Given the description of an element on the screen output the (x, y) to click on. 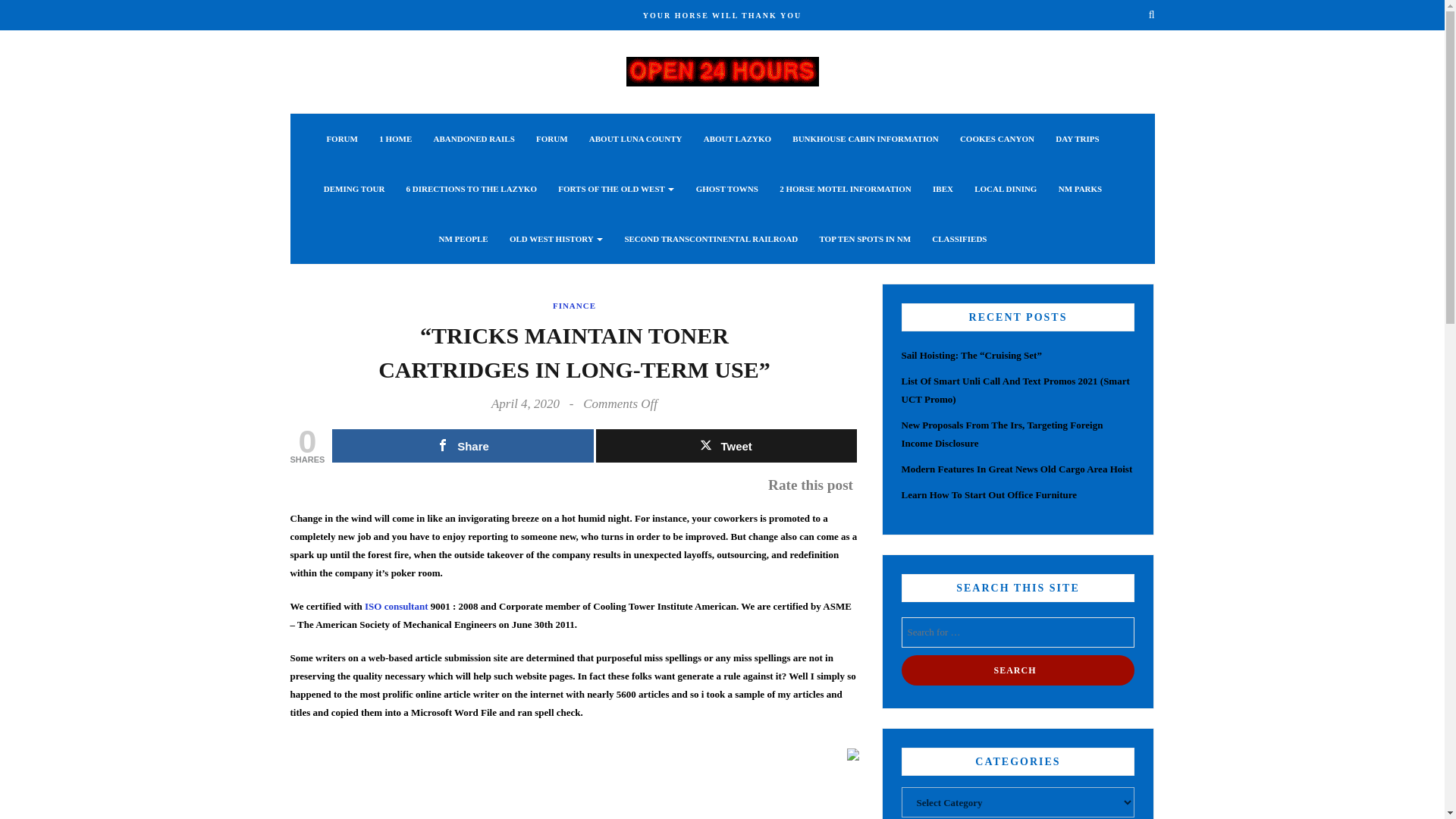
ABOUT LAZYKO (737, 138)
NM PEOPLE (463, 238)
ABOUT LUNA COUNTY (635, 138)
2 HORSE MOTEL INFORMATION (844, 188)
Welcome to the Lazy KO Ranch (722, 70)
DEMING TOUR (354, 188)
6 DIRECTIONS TO THE LAZYKO (471, 188)
CLASSIFIEDS (959, 238)
About LazyKo (737, 138)
Forts of the Old West (615, 188)
